Given the description of an element on the screen output the (x, y) to click on. 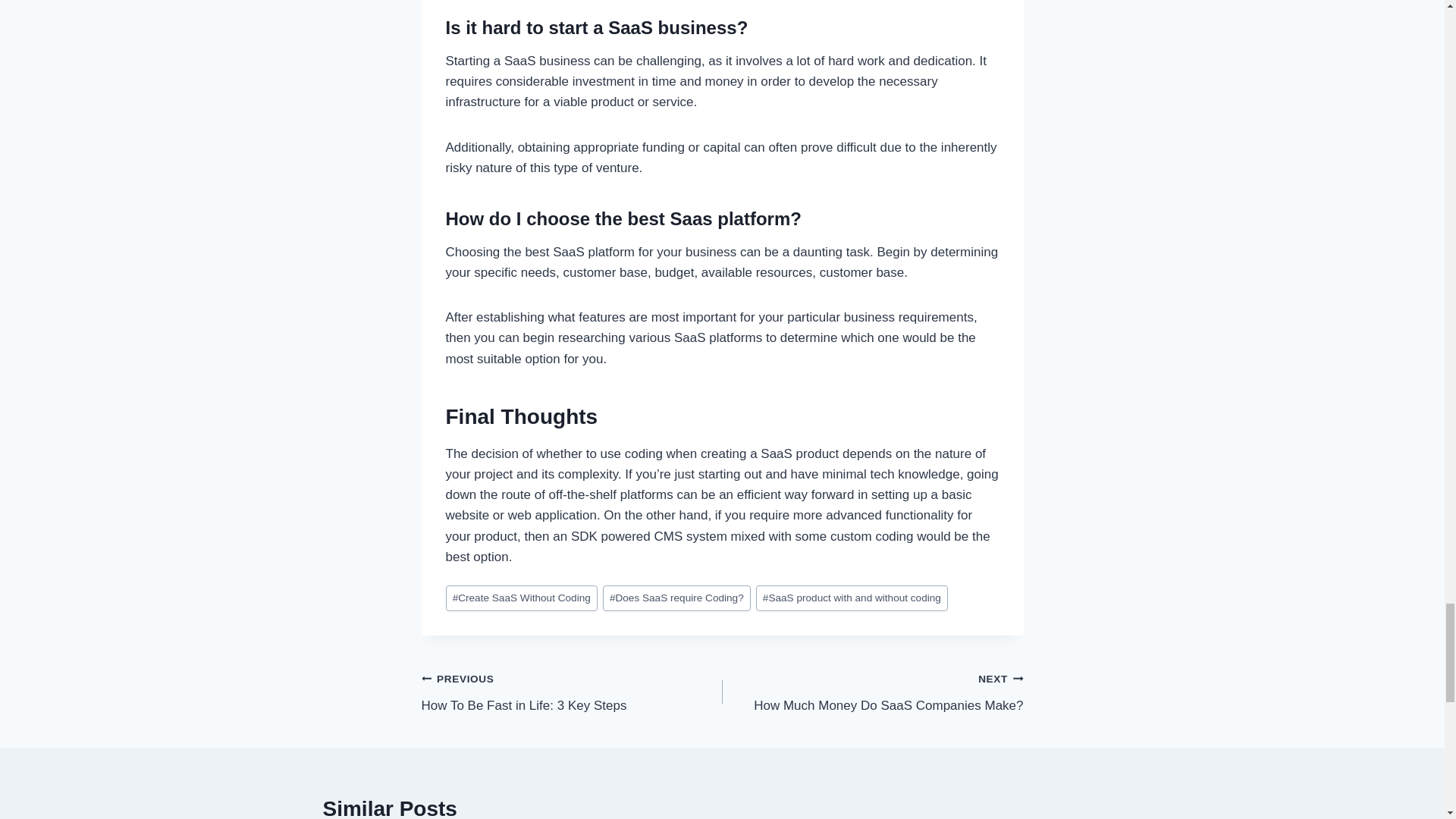
Does SaaS require Coding? (676, 598)
SaaS product with and without coding (872, 691)
Create SaaS Without Coding (572, 691)
